Given the description of an element on the screen output the (x, y) to click on. 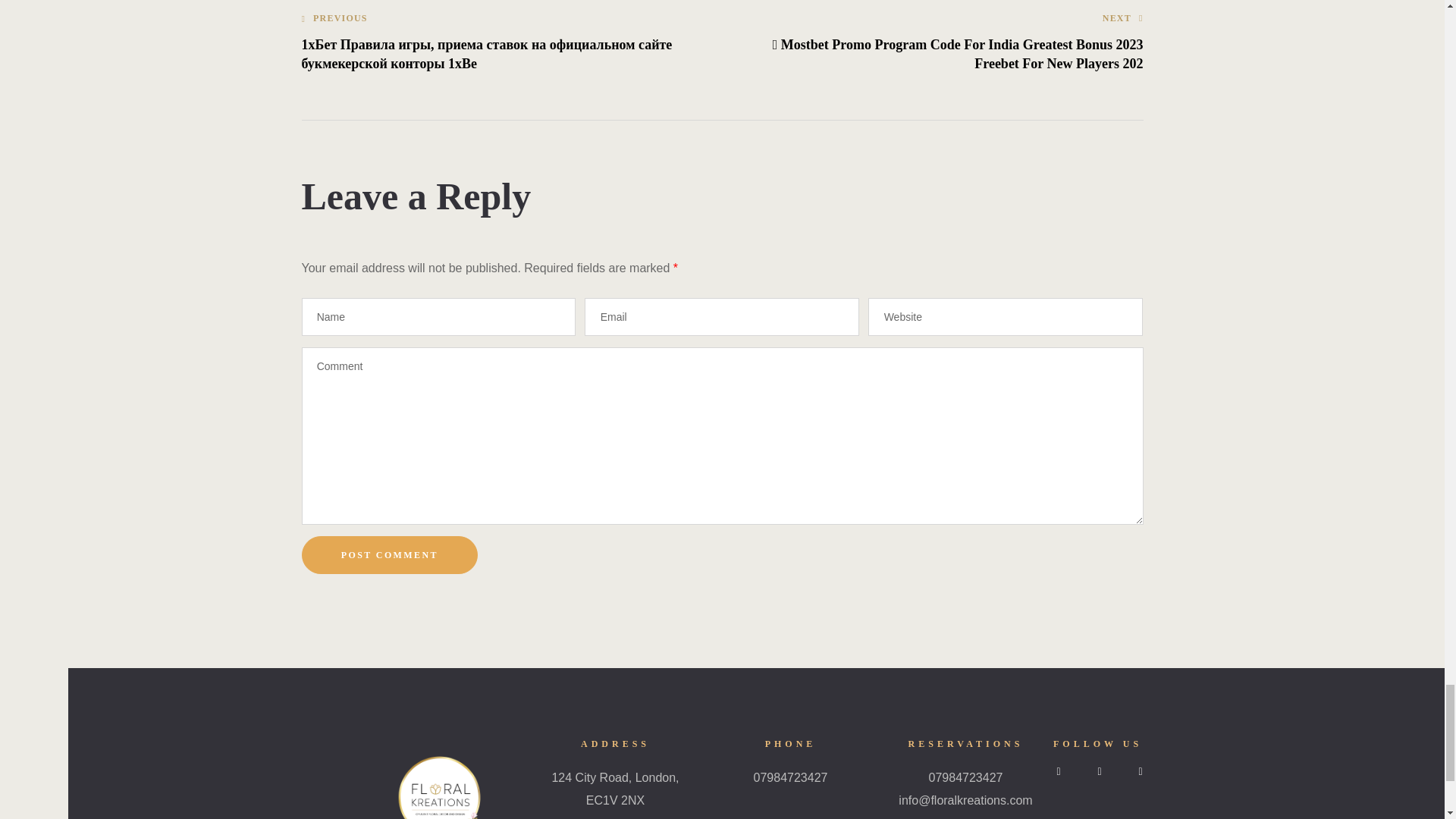
Post Comment (390, 555)
